Given the description of an element on the screen output the (x, y) to click on. 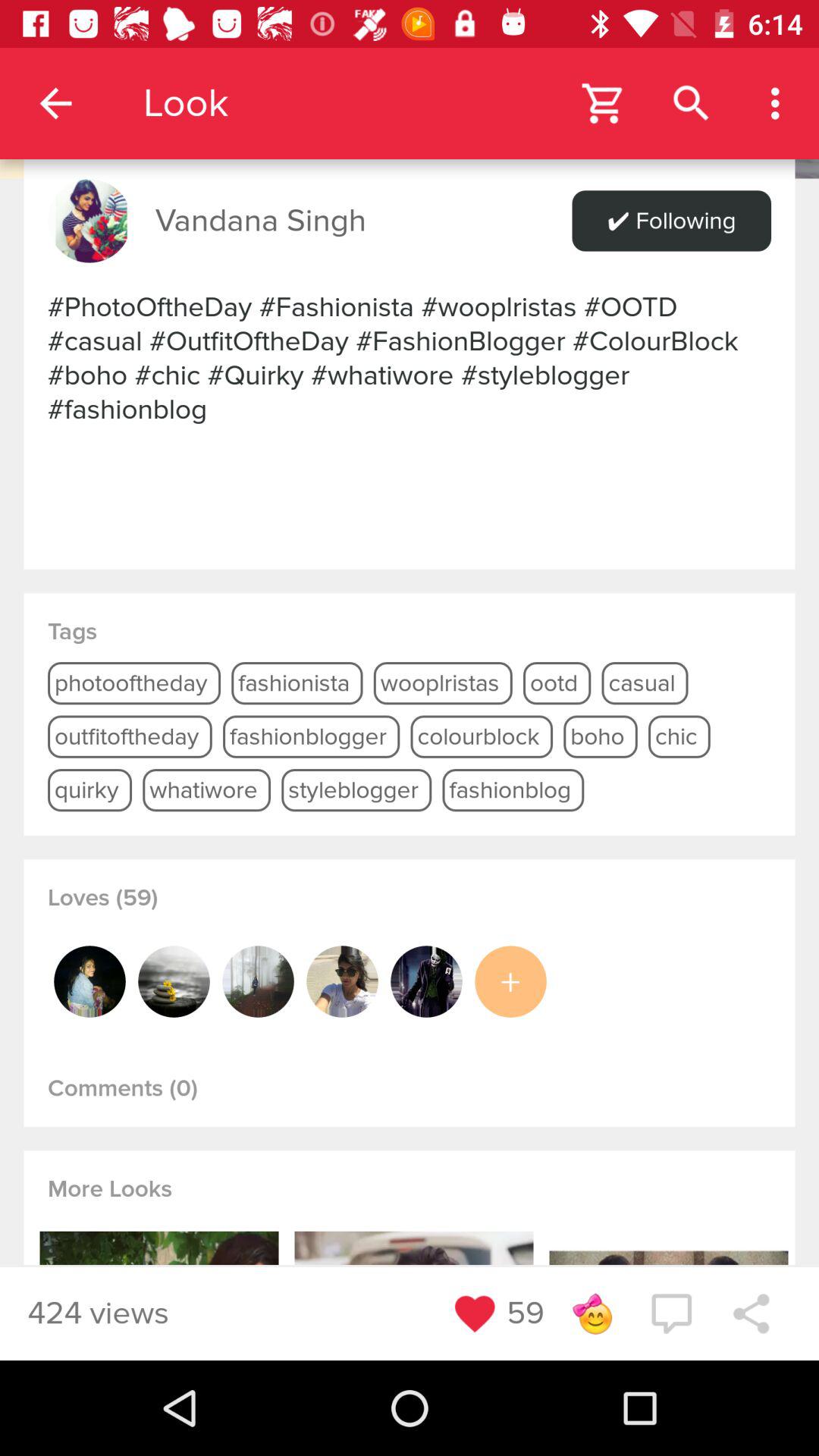
who like your post (258, 981)
